Given the description of an element on the screen output the (x, y) to click on. 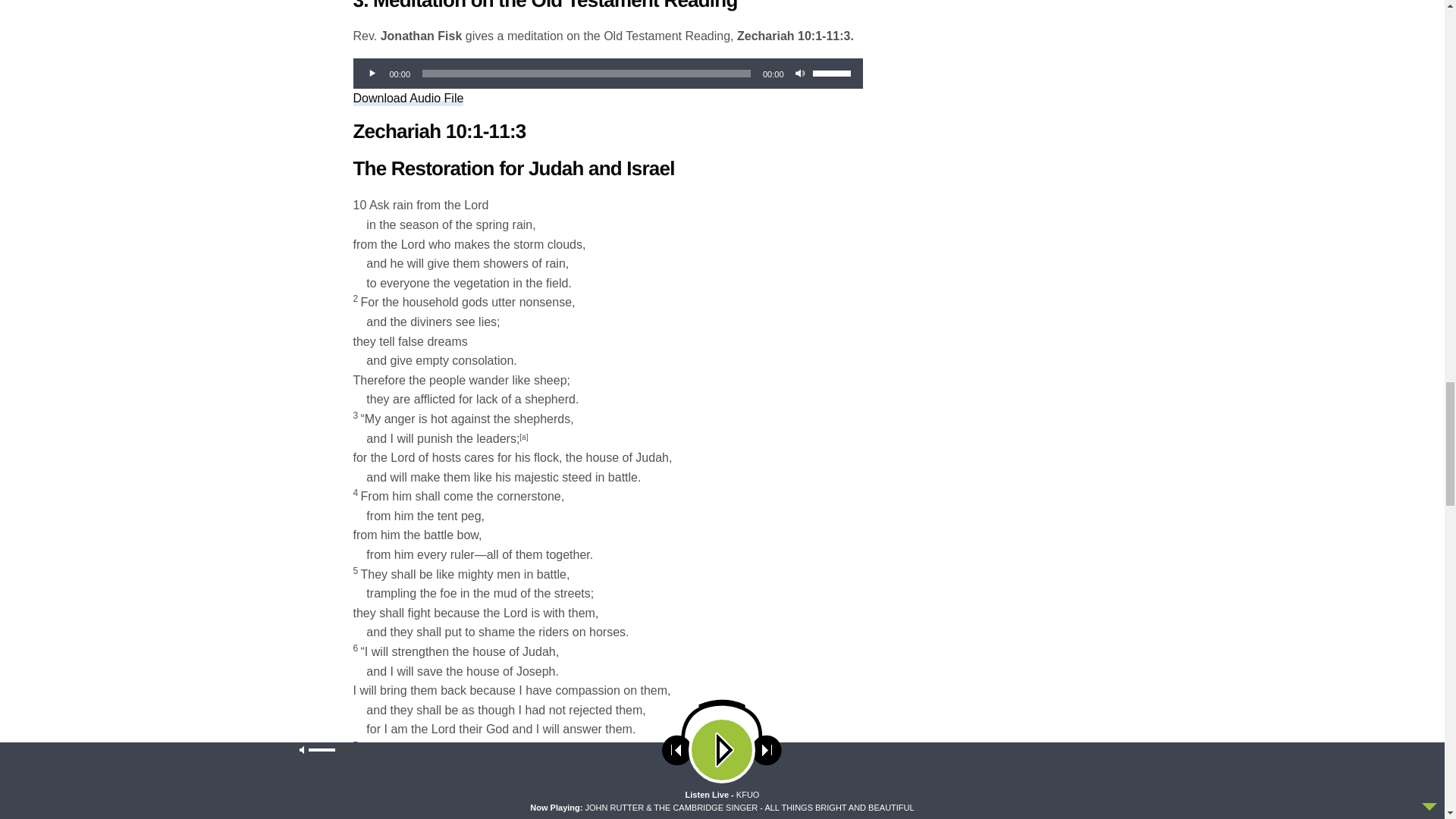
Mute (800, 73)
Play (372, 73)
